Given the description of an element on the screen output the (x, y) to click on. 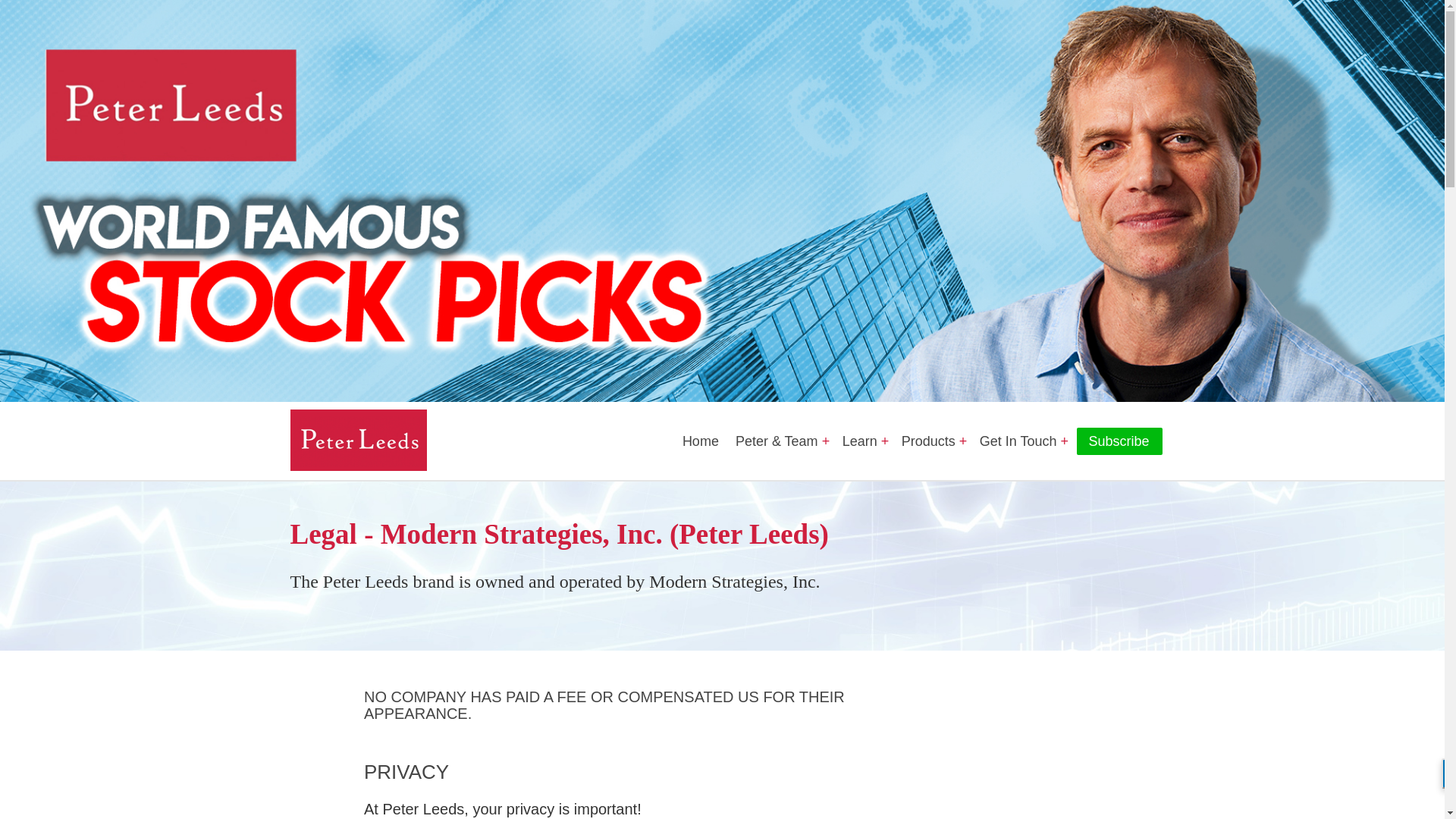
Learn (860, 441)
Subscribe (1119, 441)
Products (928, 441)
Home (697, 441)
Get In Touch (1019, 441)
